Given the description of an element on the screen output the (x, y) to click on. 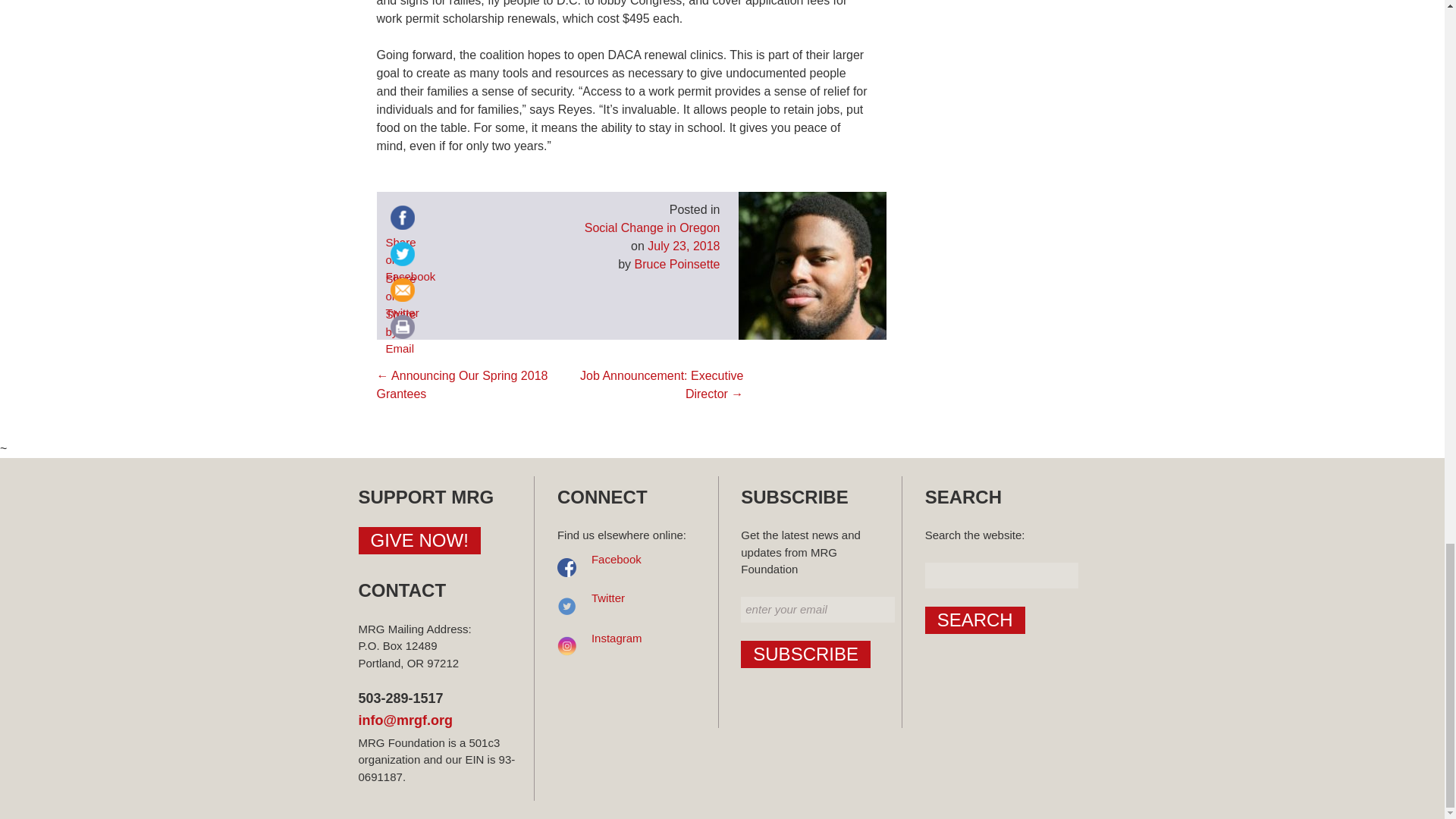
Search (974, 619)
email (402, 289)
print (402, 326)
July 23, 2018 (683, 245)
facebook (402, 217)
Subscribe (805, 654)
Bruce Poinsette (677, 264)
Search (974, 619)
Social Change in Oregon (652, 227)
View all posts by Bruce Poinsette (677, 264)
twitter (402, 254)
enter your email (818, 610)
